Given the description of an element on the screen output the (x, y) to click on. 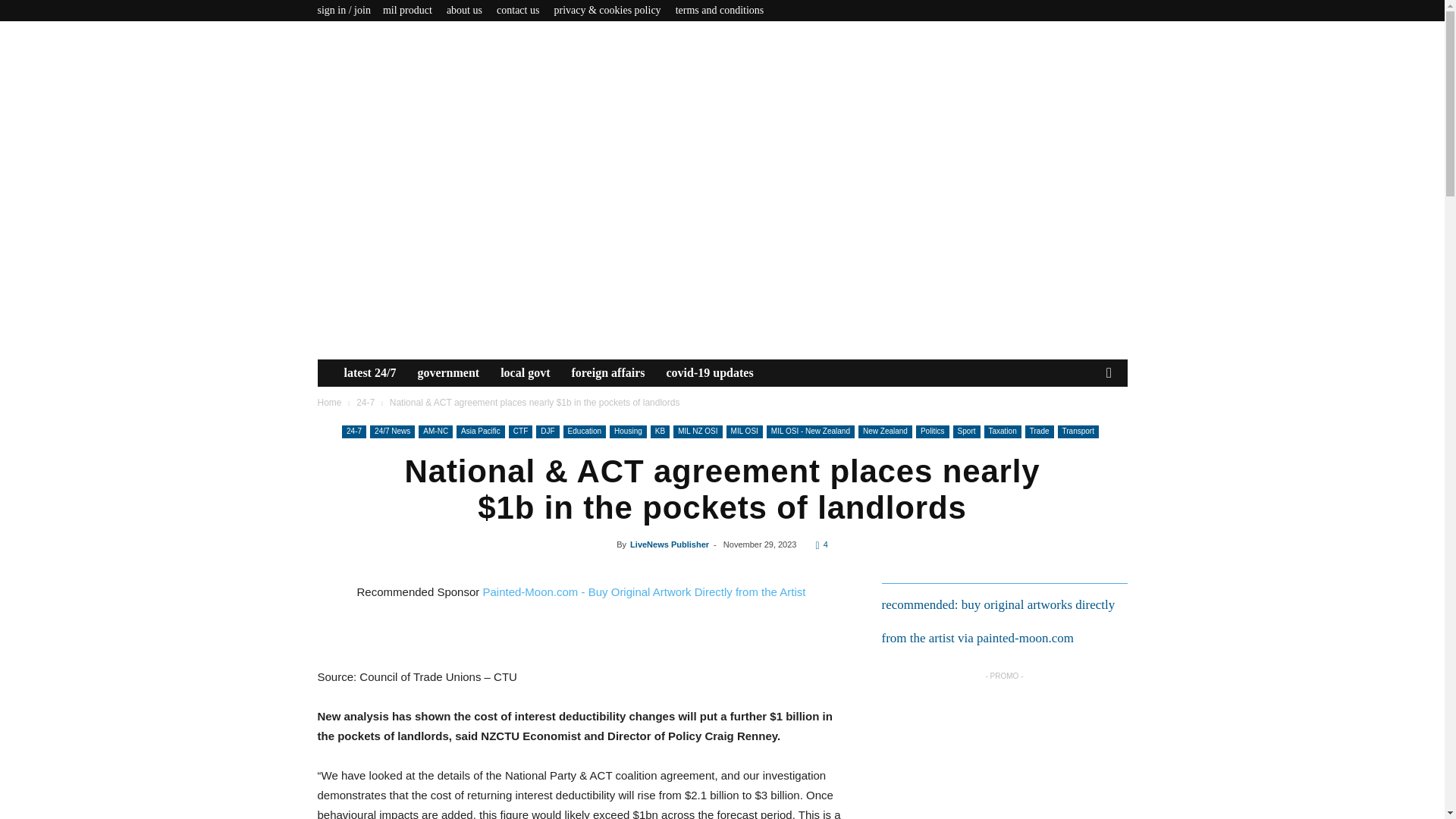
3rd party ad content (1002, 751)
CTF (520, 431)
contact us (517, 9)
24-7 (354, 431)
View all posts in 24-7 (365, 402)
foreign affairs (607, 372)
Housing (628, 431)
24-7 (365, 402)
Education (584, 431)
terms and conditions (719, 9)
Asia Pacific (481, 431)
KB (659, 431)
local govt (524, 372)
mil product (407, 9)
